Given the description of an element on the screen output the (x, y) to click on. 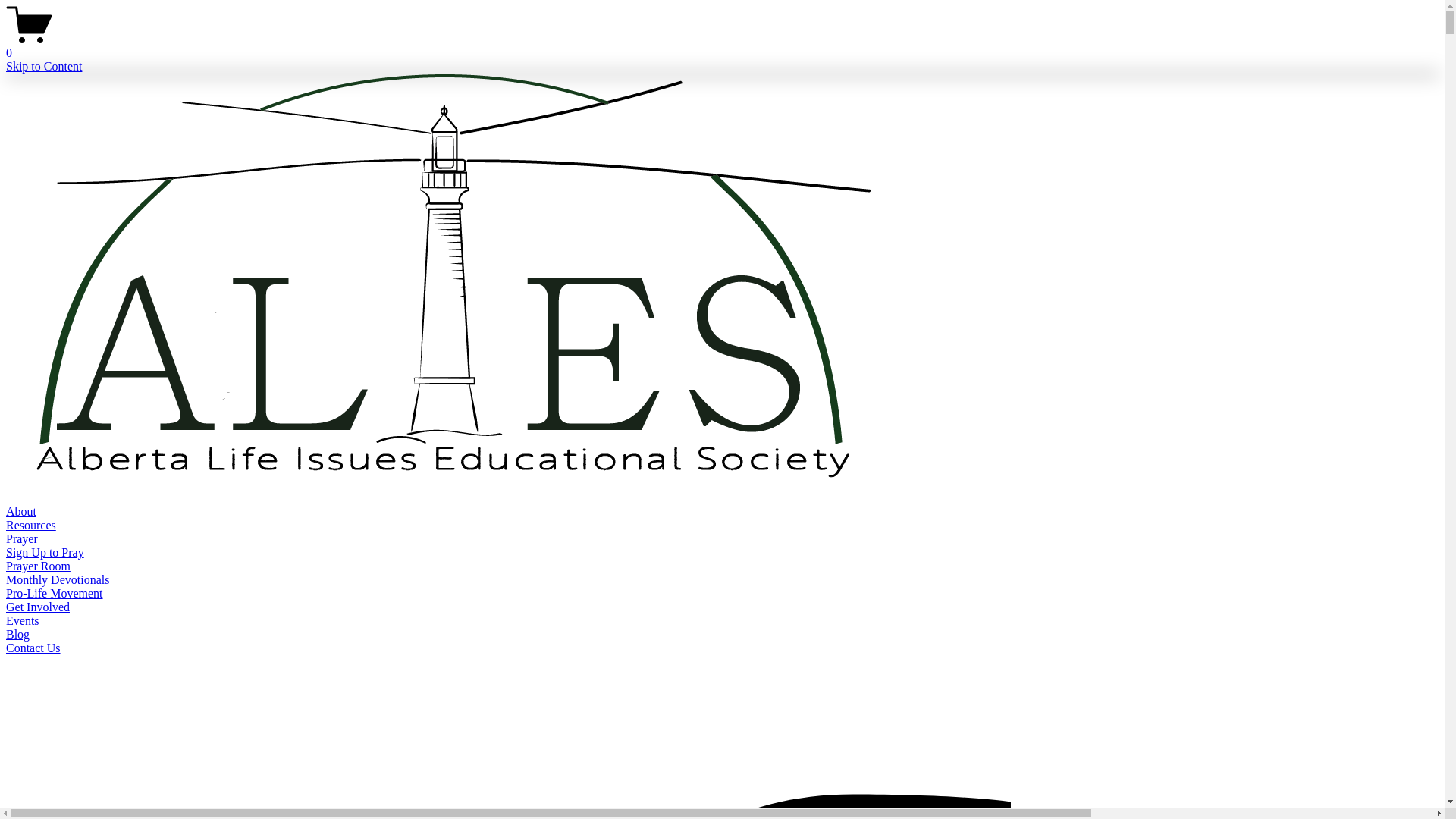
About Element type: text (21, 511)
0 Element type: text (722, 45)
Monthly Devotionals Element type: text (57, 579)
Events Element type: text (22, 620)
Resources Element type: text (31, 524)
Prayer Element type: text (21, 538)
Blog Element type: text (17, 633)
Prayer Room Element type: text (38, 565)
Get Involved Element type: text (37, 606)
Skip to Content Element type: text (43, 65)
Pro-Life Movement Element type: text (54, 592)
Sign Up to Pray Element type: text (45, 552)
Contact Us Element type: text (33, 647)
